Given the description of an element on the screen output the (x, y) to click on. 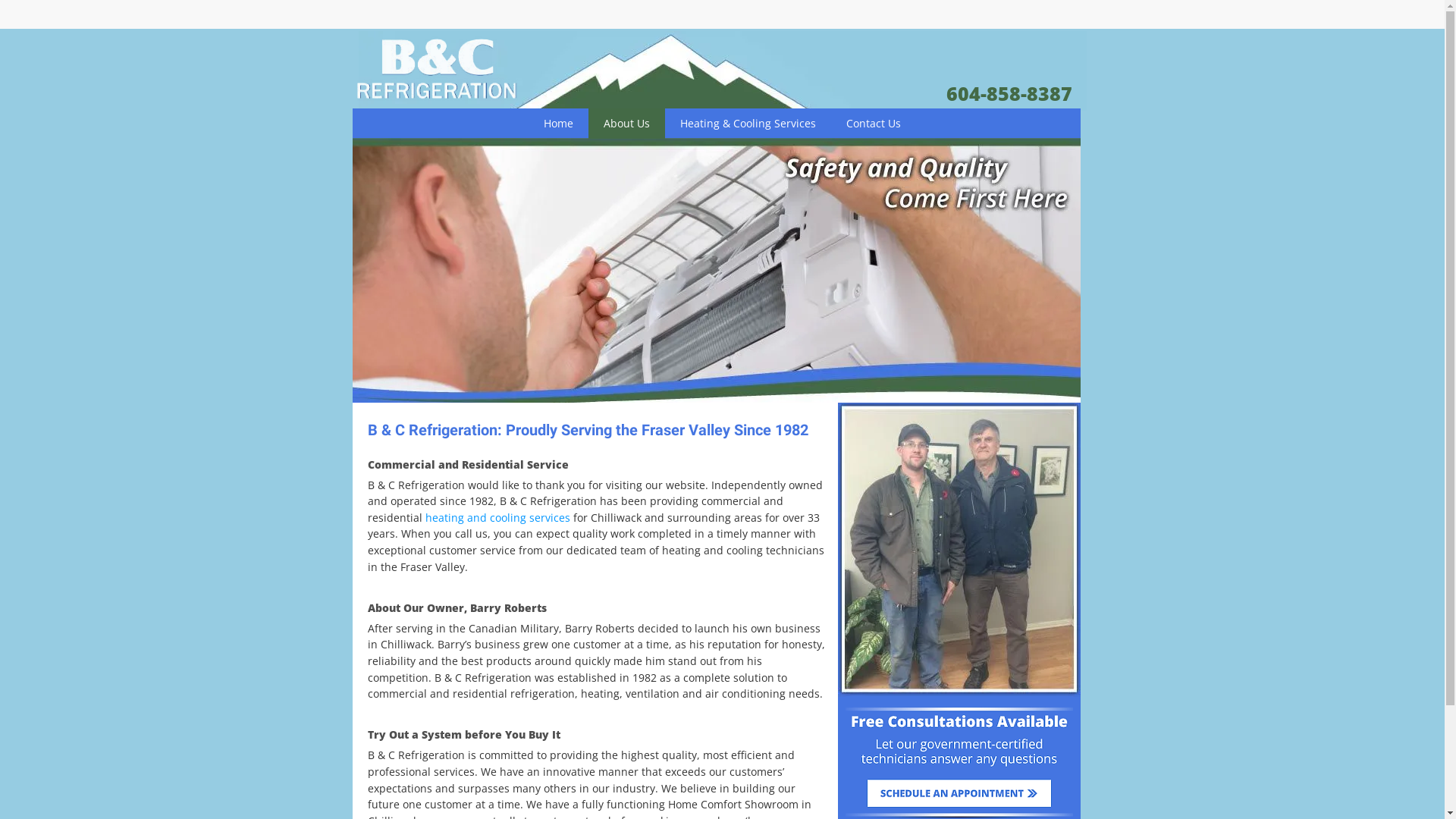
Embedded Content Element type: hover (1063, 19)
Heating & Cooling Services Element type: text (747, 123)
heating and cooling services Element type: text (496, 517)
Embedded Content Element type: hover (938, 16)
About Us Element type: text (626, 123)
Contact Us Element type: text (873, 123)
604-858-8387 Element type: text (1009, 93)
Home Element type: text (557, 123)
